Given the description of an element on the screen output the (x, y) to click on. 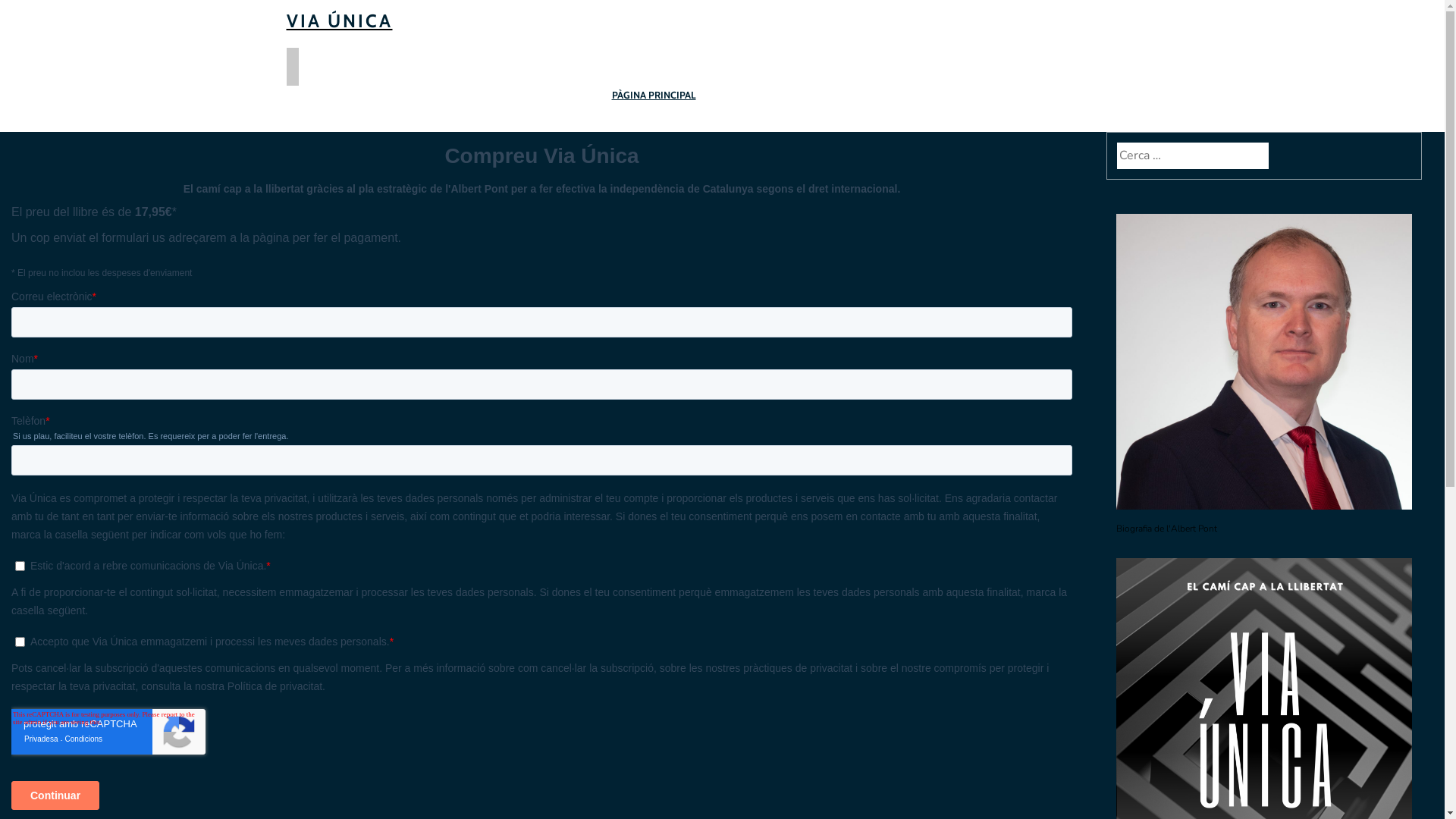
Biografia de l'Albert Pont Element type: text (1166, 528)
Cerca Element type: text (25, 14)
